Given the description of an element on the screen output the (x, y) to click on. 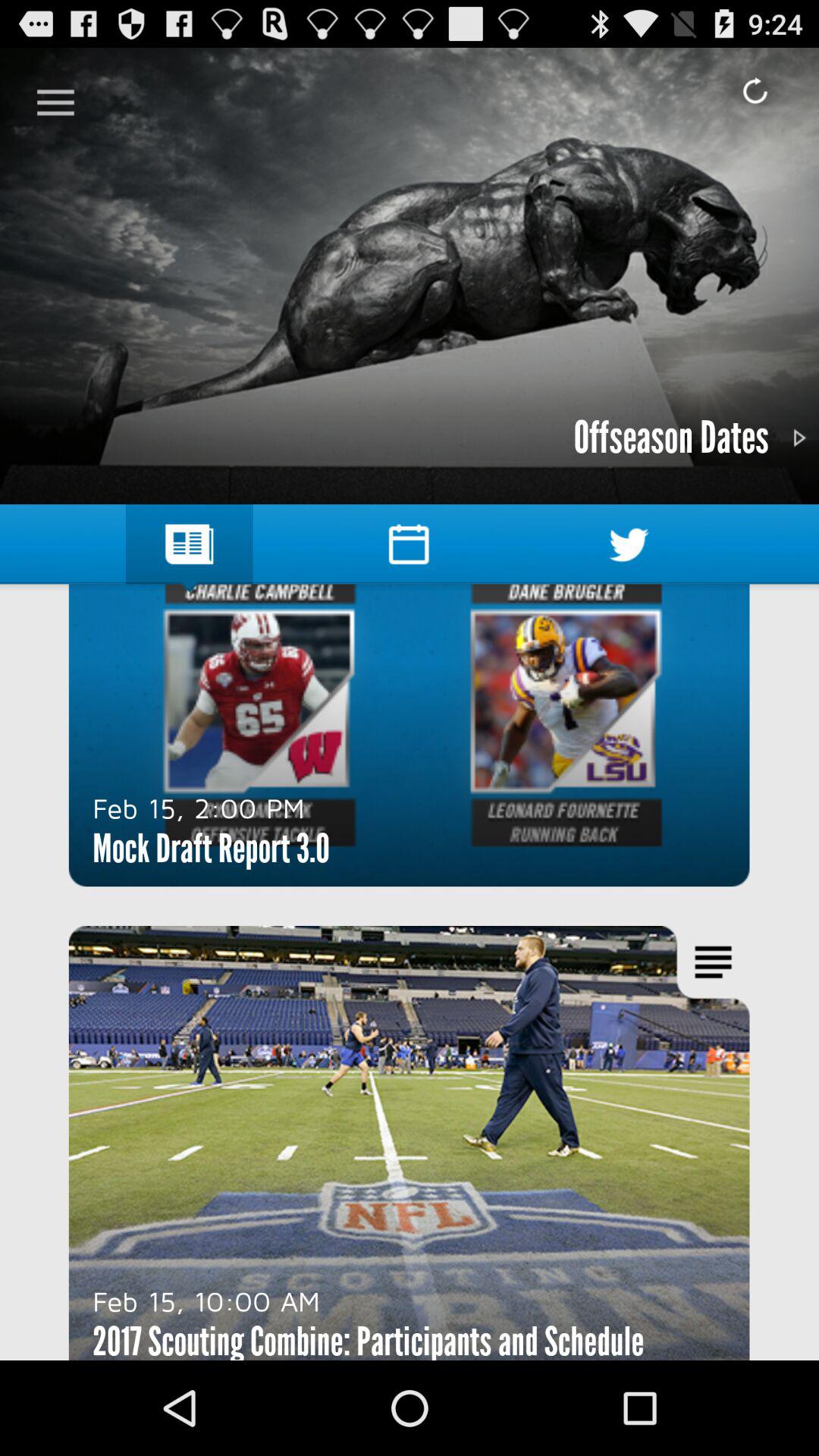
click on play button (799, 437)
click on refresh icon (755, 90)
go to the image present at bottom (409, 1142)
select the icon on left side of twitter icon (408, 544)
click on the bird icon and below offseason dates (628, 544)
select refresh icon which is at top right side of the page (755, 90)
select the symbol which is immediately above charlie campbell (189, 544)
